Given the description of an element on the screen output the (x, y) to click on. 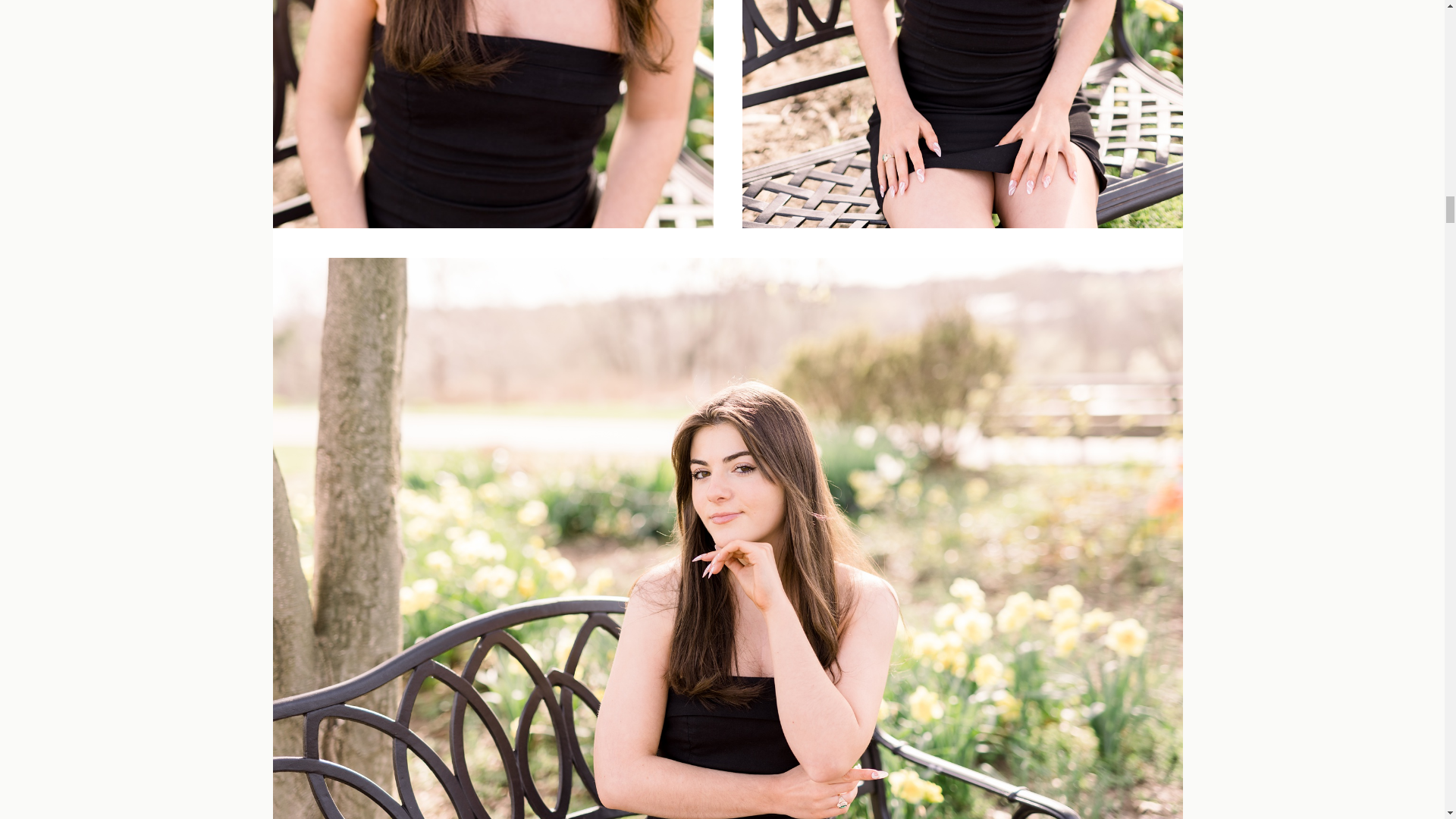
Nashville Senior Photography (962, 114)
Nashville Senior Photography (493, 114)
